Given the description of an element on the screen output the (x, y) to click on. 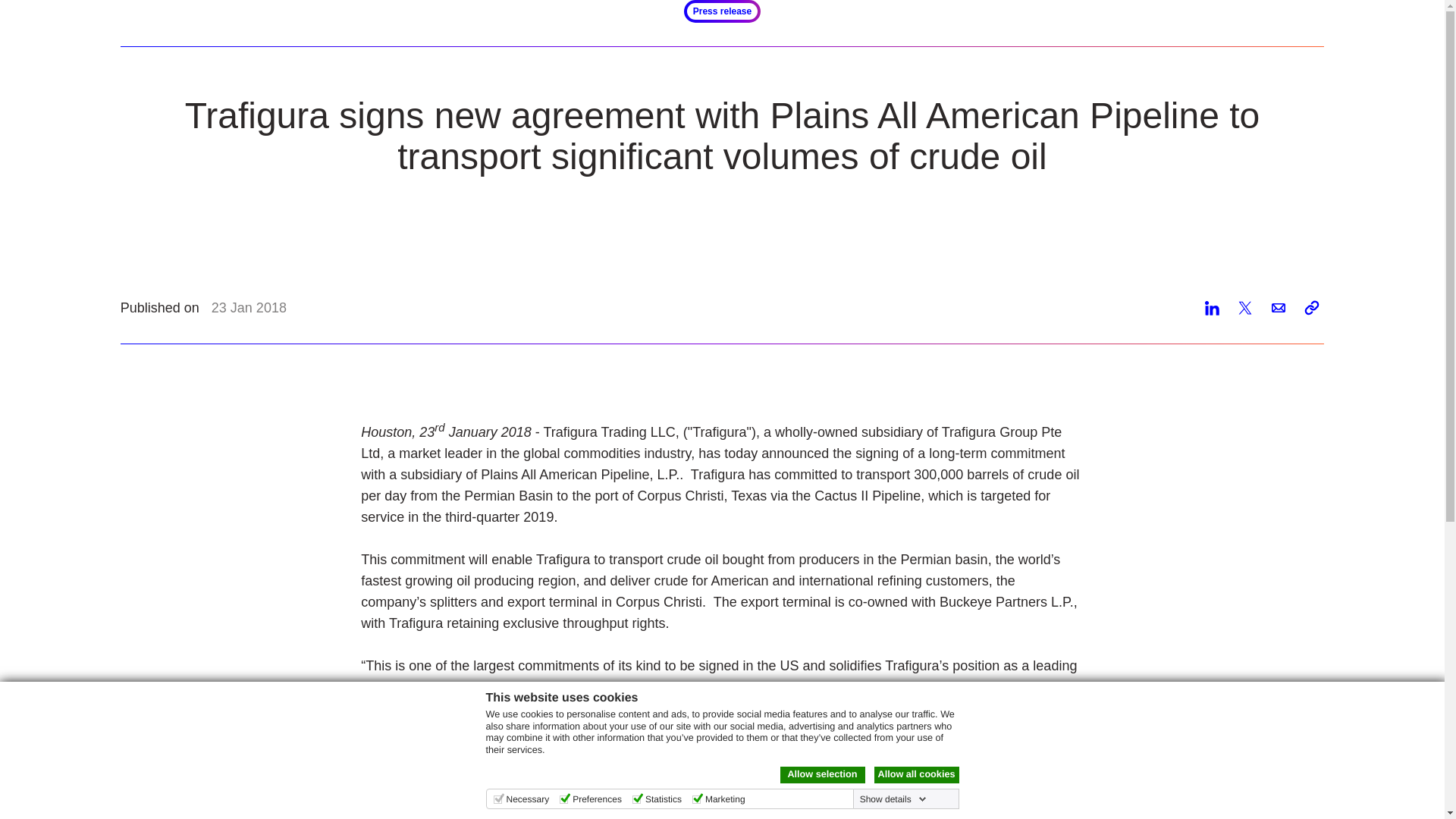
Allow selection (821, 774)
Show details (893, 799)
Allow all cookies (915, 774)
